Given the description of an element on the screen output the (x, y) to click on. 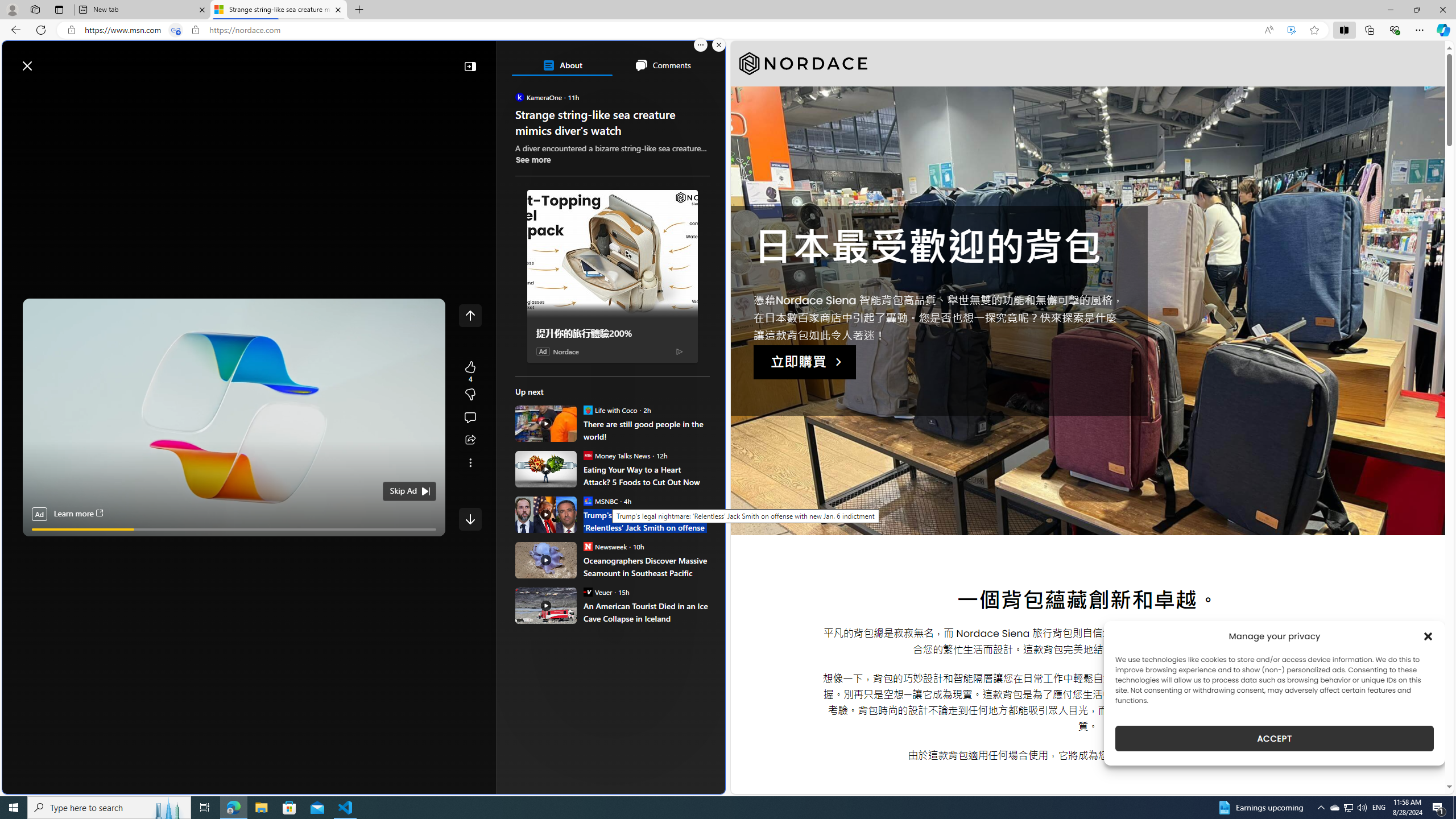
Money Talks News Money Talks News (616, 455)
Open settings (699, 60)
There are still good people in the world! (646, 430)
Nordace (566, 351)
Eating Your Way to a Heart Attack? 5 Foods to Cut Out Now (646, 475)
Nordace (803, 63)
ACCEPT (1274, 738)
Minimize (1390, 9)
Split screen (1344, 29)
Veuer (587, 591)
Share this story (469, 440)
